Given the description of an element on the screen output the (x, y) to click on. 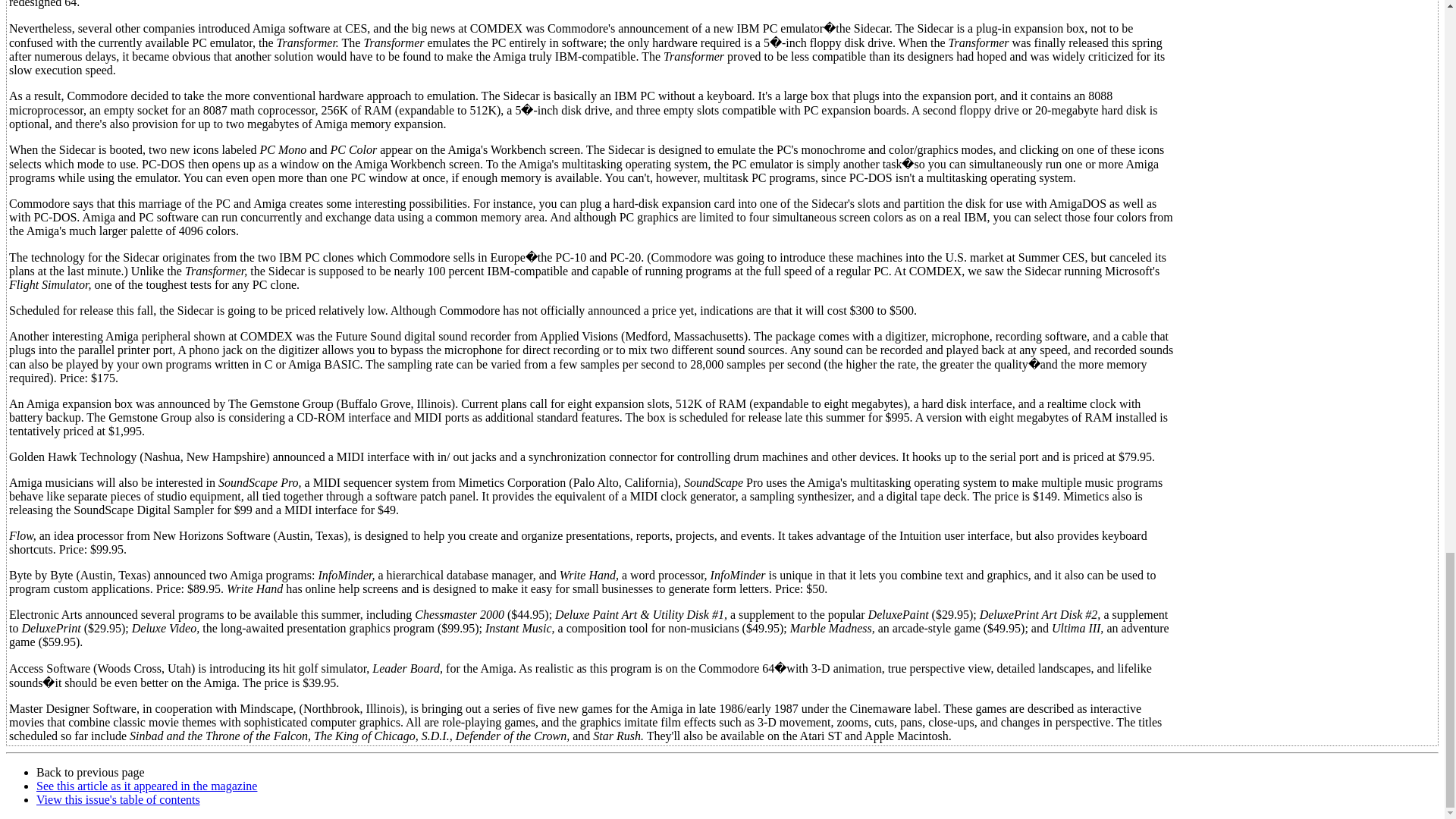
View this issue's table of contents (118, 799)
Back to previous page (90, 771)
See this article as it appeared in the magazine (146, 785)
